Given the description of an element on the screen output the (x, y) to click on. 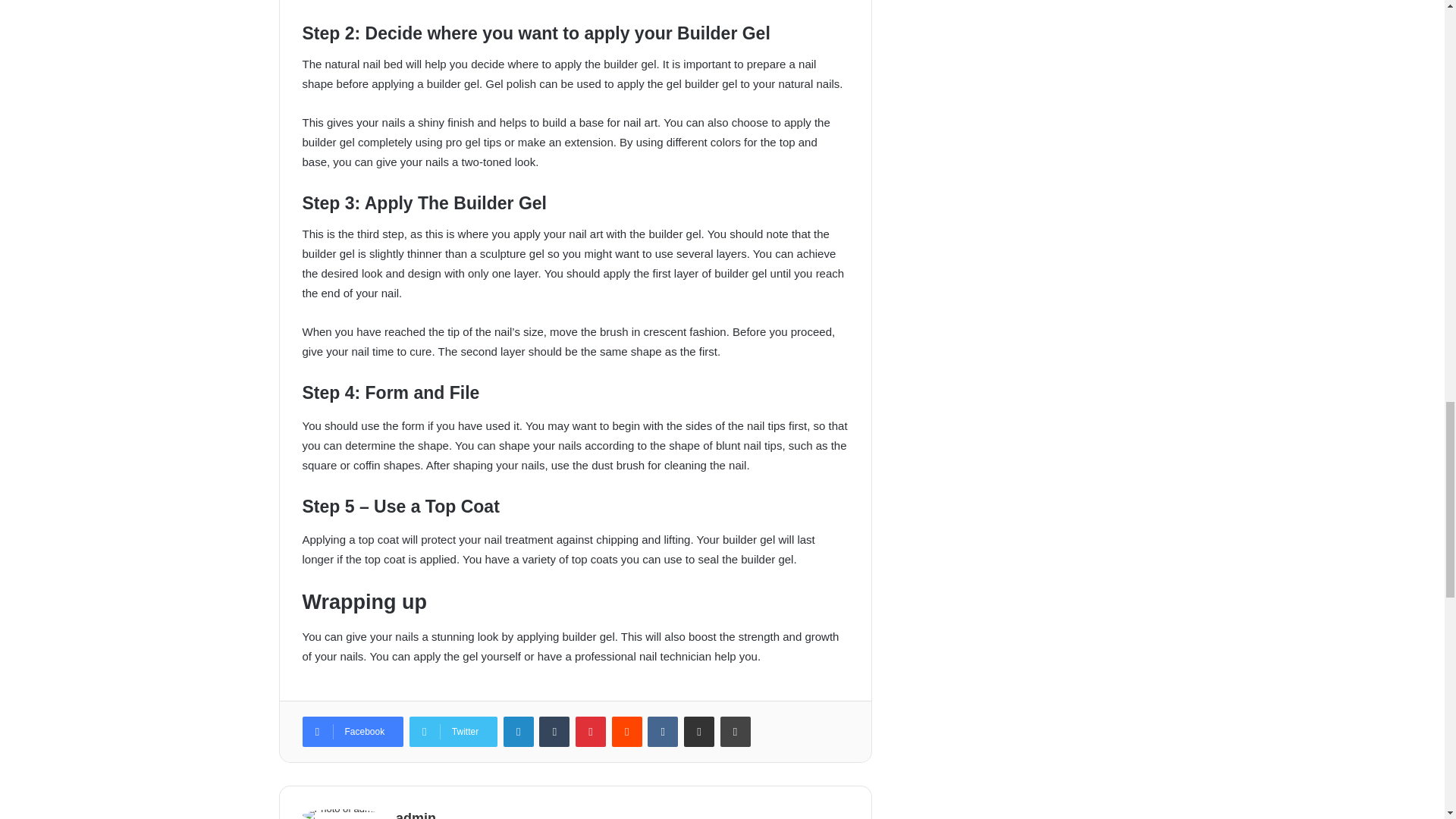
Share via Email (699, 731)
Twitter (453, 731)
LinkedIn (518, 731)
Tumblr (553, 731)
Pinterest (590, 731)
Reddit (626, 731)
VKontakte (662, 731)
Facebook (352, 731)
